Given the description of an element on the screen output the (x, y) to click on. 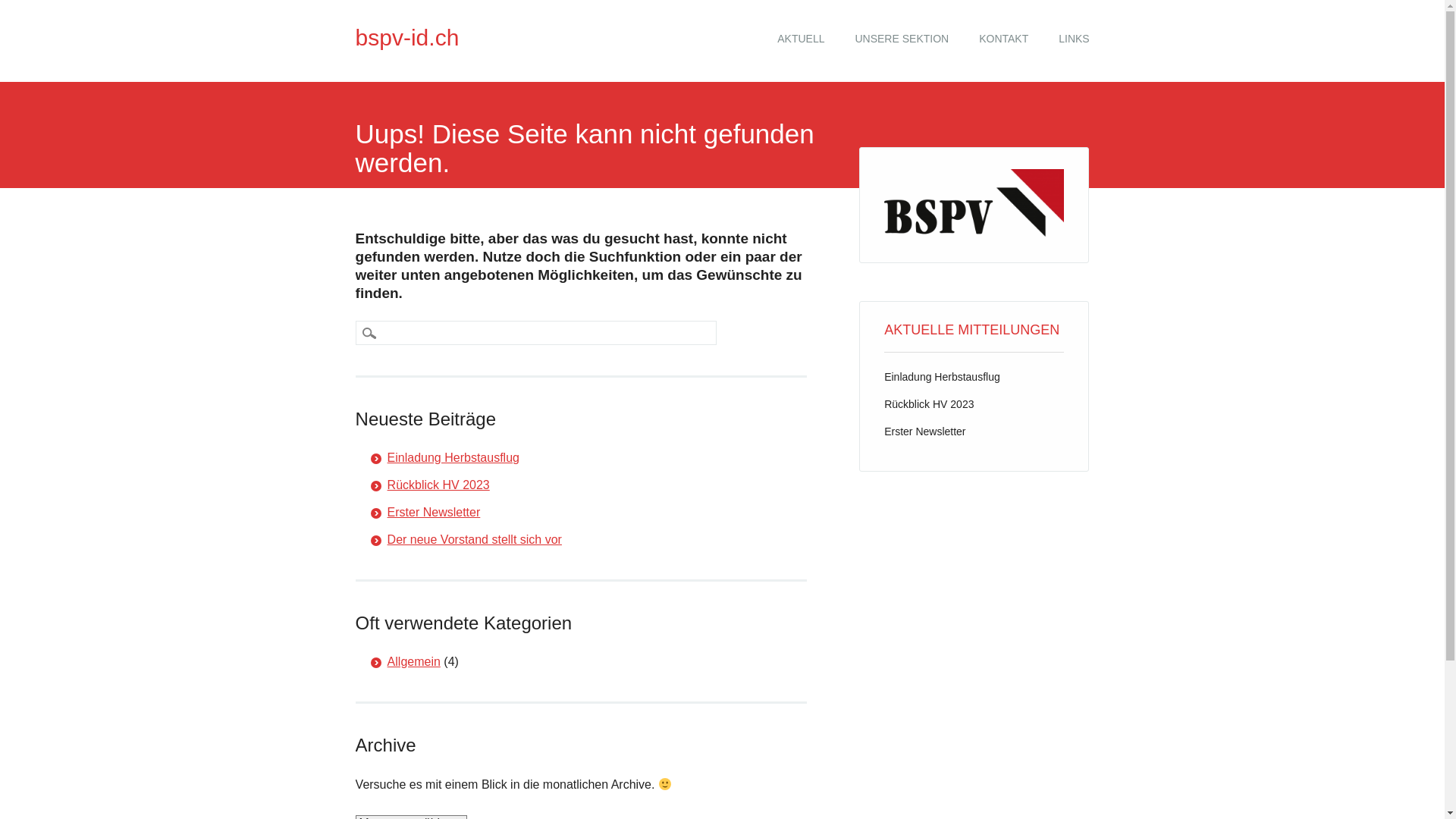
UNSERE SEKTION Element type: text (901, 38)
Einladung Herbstausflug Element type: text (453, 457)
KONTAKT Element type: text (1003, 38)
AKTUELL Element type: text (800, 38)
Erster Newsletter Element type: text (924, 431)
Suche Element type: text (23, 9)
Allgemein Element type: text (413, 661)
Erster Newsletter Element type: text (433, 511)
Der neue Vorstand stellt sich vor Element type: text (474, 539)
bspv-id.ch Element type: text (407, 37)
LINKS Element type: text (1073, 38)
Einladung Herbstausflug Element type: text (942, 376)
